Given the description of an element on the screen output the (x, y) to click on. 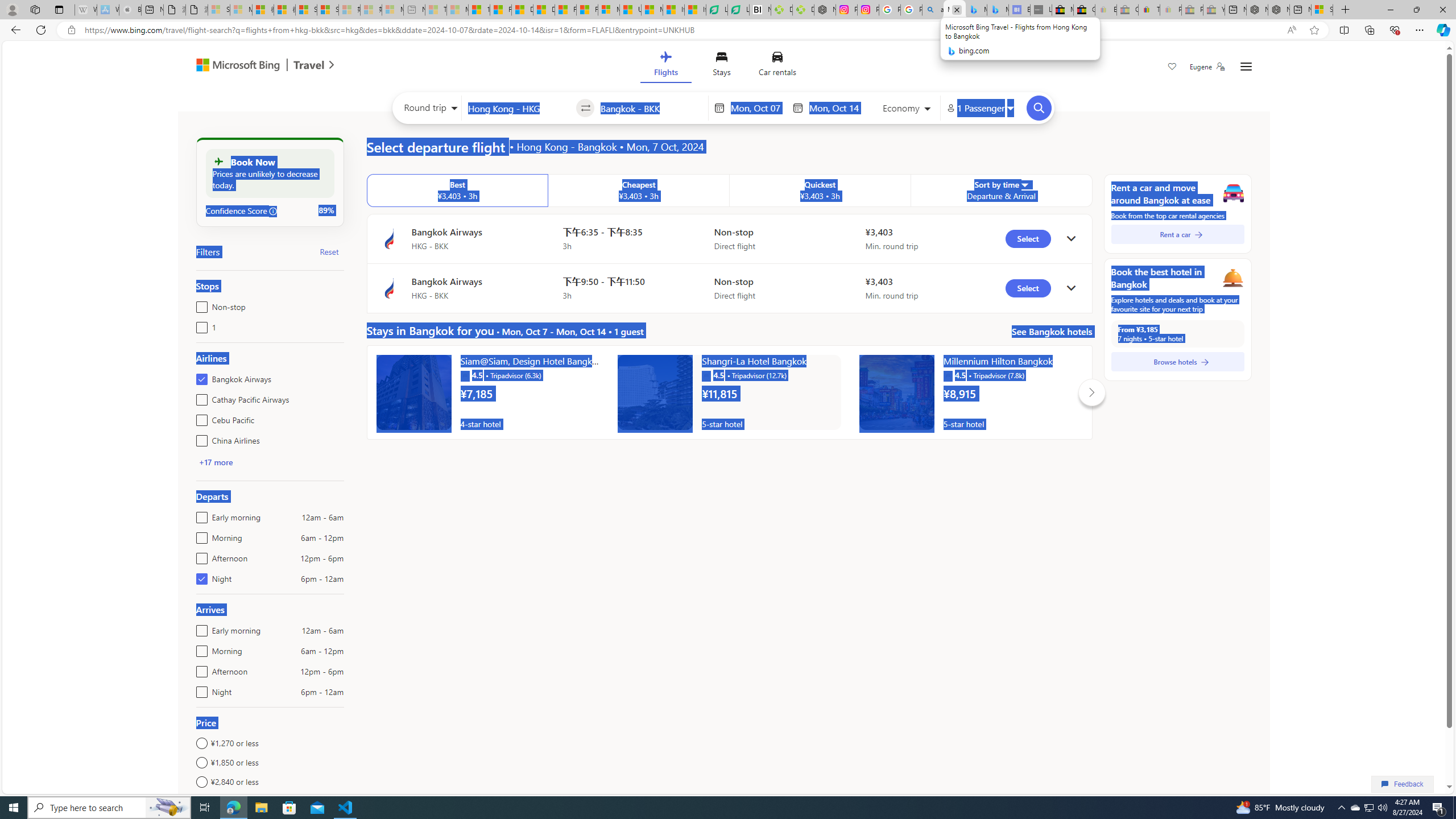
Class: msft-bing-logo msft-bing-logo-desktop (234, 64)
Rent a car (1177, 234)
Info tooltip (273, 211)
Class: trvl-hub-header nofilter (723, 65)
